Given the description of an element on the screen output the (x, y) to click on. 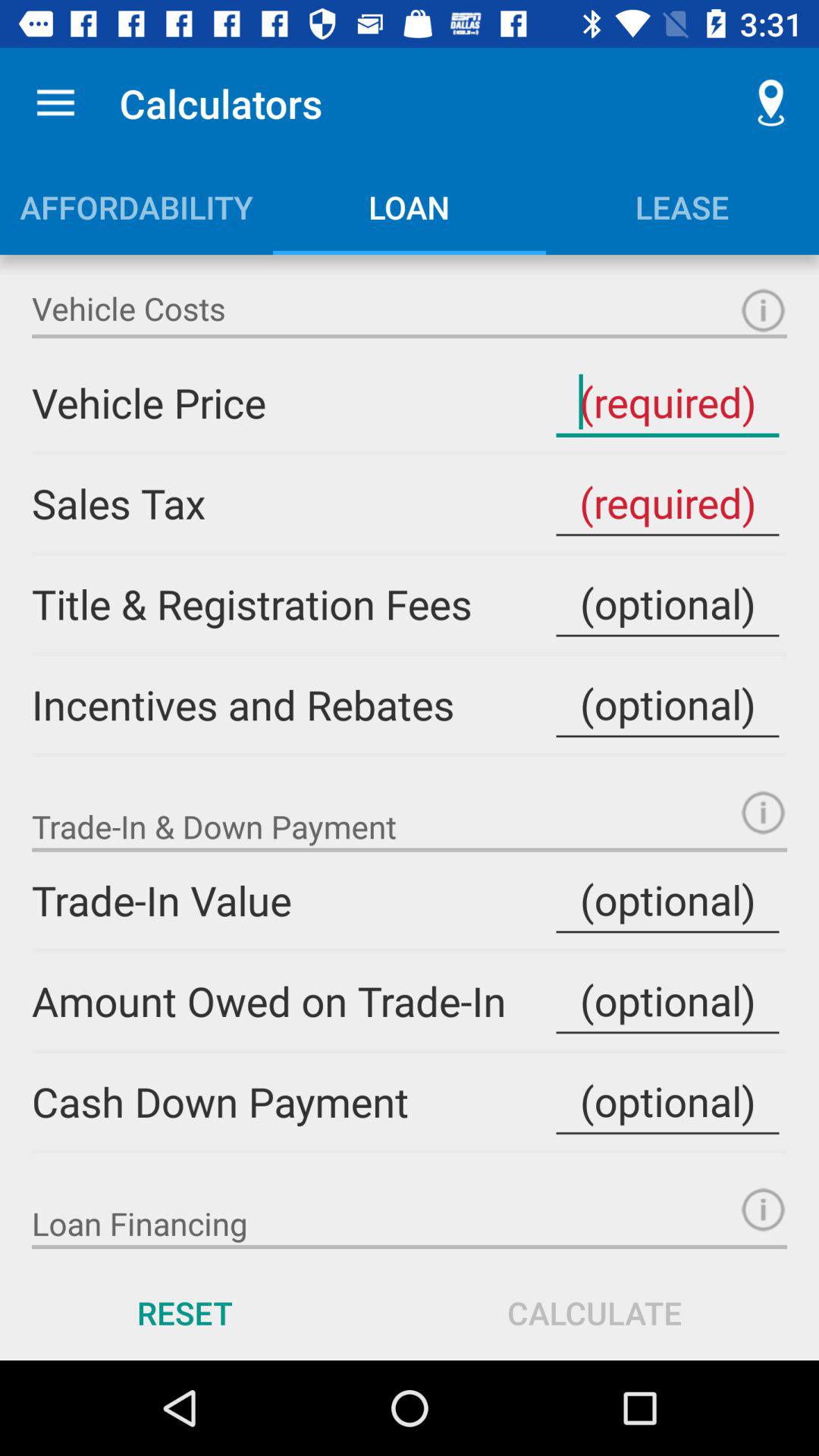
enter cost (667, 603)
